Given the description of an element on the screen output the (x, y) to click on. 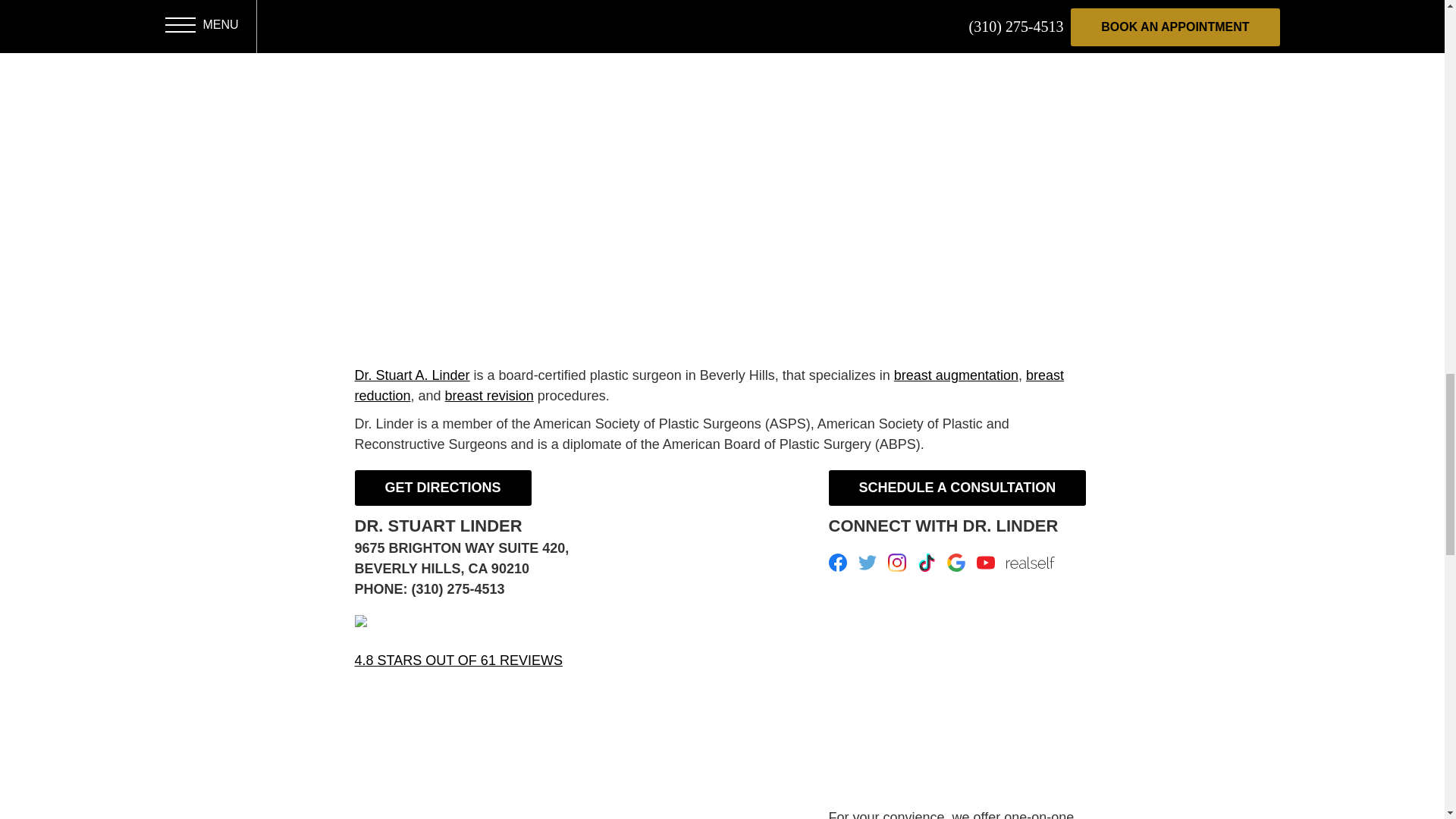
Facebook (836, 562)
Beverly Hills Breast Augmentation Surgeon (955, 375)
RealSelf (1030, 562)
YouTube (985, 562)
Instagram (896, 562)
Twitter (867, 562)
Twitter (867, 562)
Instagram (896, 562)
Beverly Hills Breast Reduction Surgeon (709, 385)
Meet Dr. Linder (412, 375)
